Given the description of an element on the screen output the (x, y) to click on. 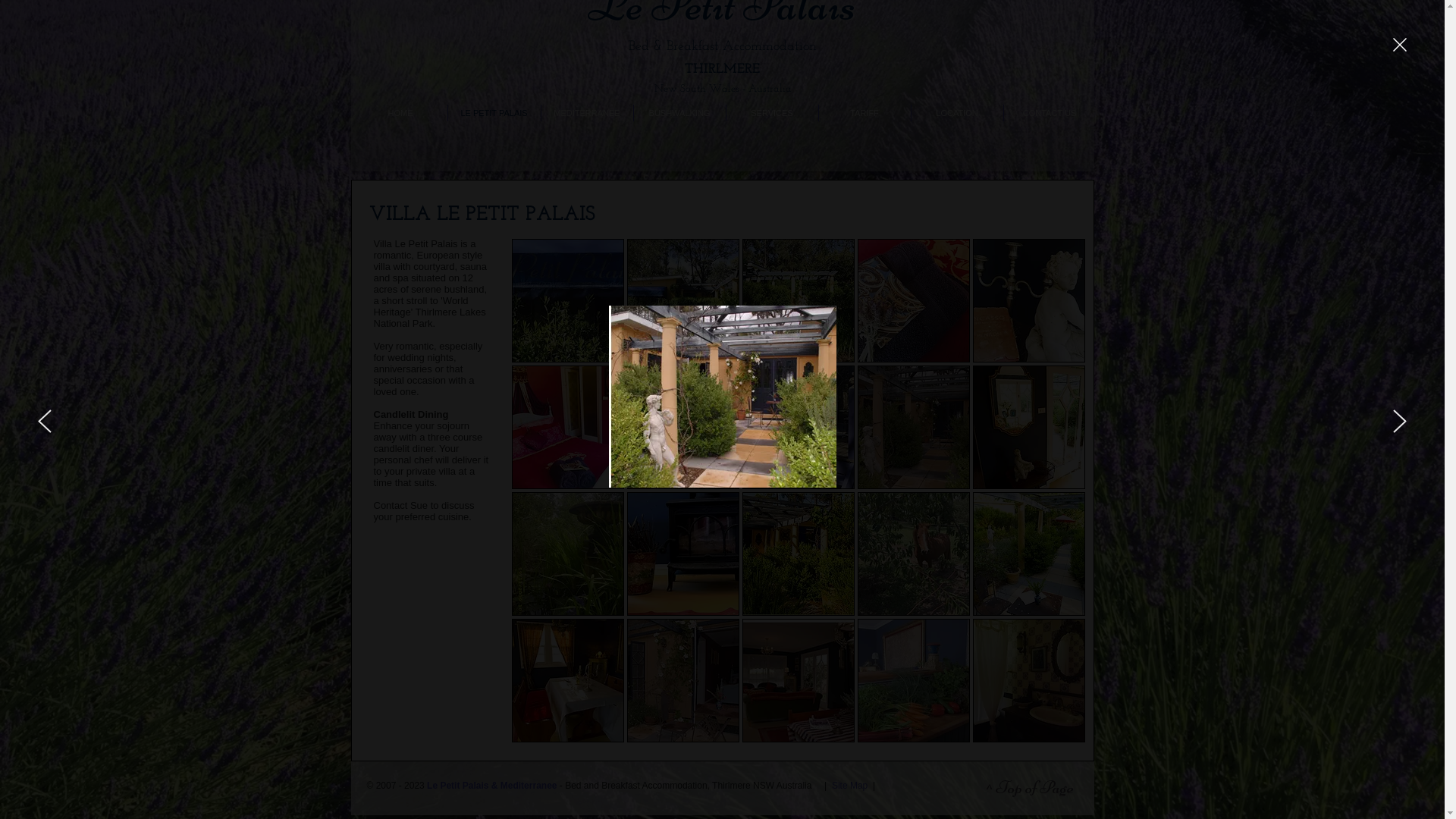
TARIFF Element type: text (864, 112)
LE PETIT PALAIS Element type: text (493, 112)
SERVICES Element type: text (772, 112)
BUSHWALKING Element type: text (679, 112)
MEDITERRANEE Element type: text (587, 112)
HOME Element type: text (399, 112)
CONTACT US Element type: text (1049, 112)
^ Top of Page Element type: text (1028, 787)
LOCATION Element type: text (957, 112)
Site Map Element type: text (849, 785)
